Given the description of an element on the screen output the (x, y) to click on. 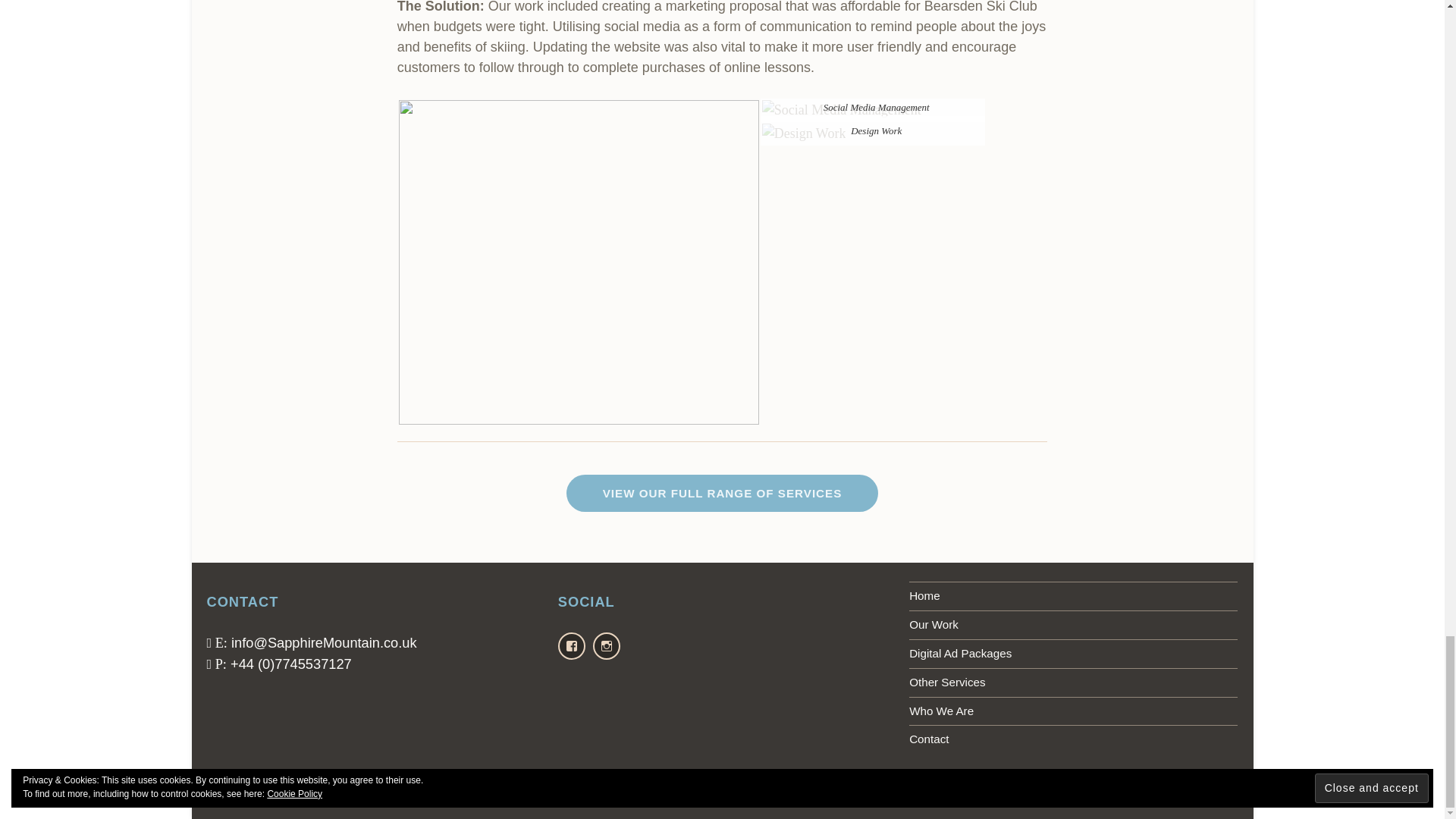
Proudly powered by WordPress (1013, 798)
WordPress.com (1200, 798)
Design Work (803, 133)
Privacy Policy (238, 798)
Who We Are (1072, 710)
Other Services (1072, 682)
Digital Ad Packages (1072, 653)
Social Media Management (841, 109)
Our Work (1072, 624)
Home (1072, 595)
Contact (1072, 738)
VIEW OUR FULL RANGE OF SERVICES (721, 493)
